Given the description of an element on the screen output the (x, y) to click on. 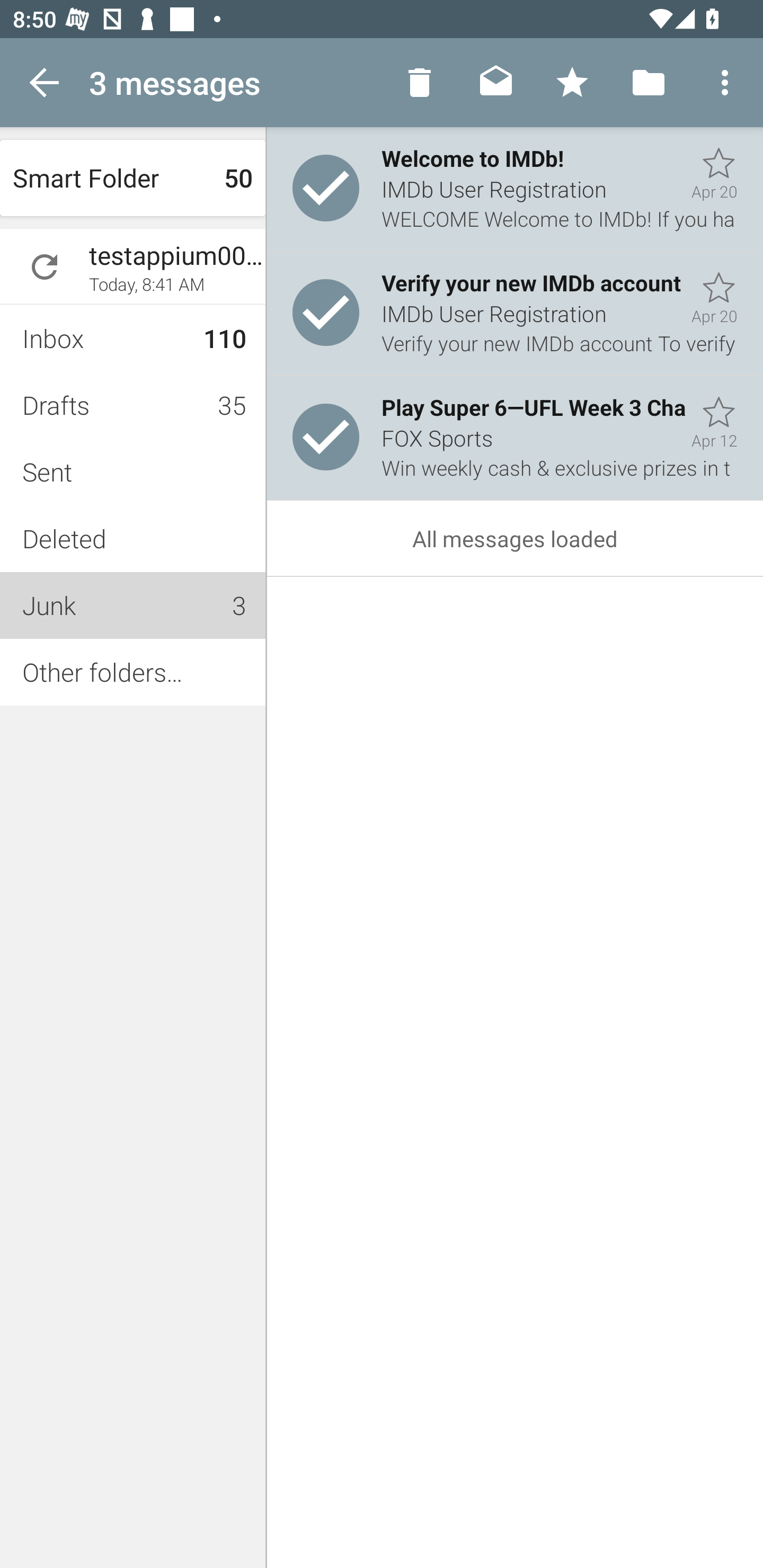
Move to Deleted (419, 82)
Refresh all (572, 82)
Refresh (648, 82)
More options (724, 81)
Smart Folder 50 50 unread, 50 total messages (132, 177)
Refresh account (44, 266)
Sent Folder: Sent 24 total messages (132, 471)
All messages loaded (515, 538)
Deleted Folder: Deleted 0 total messages (132, 538)
Junk Folder: Junk 3 3 total messages (132, 605)
Other folders… (132, 671)
